Given the description of an element on the screen output the (x, y) to click on. 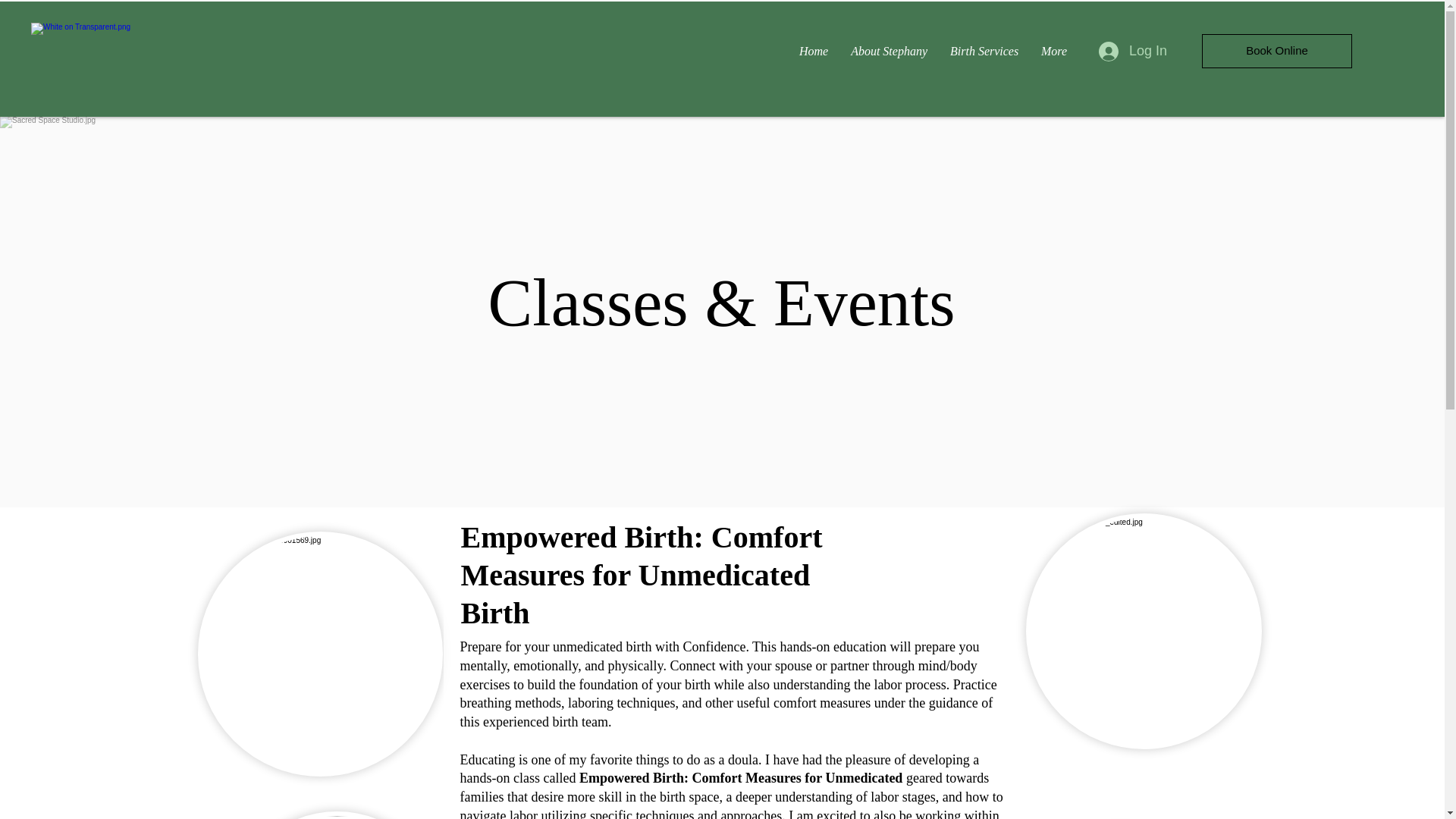
Home (813, 51)
Log In (1132, 51)
Book Online (1277, 50)
Birth Services (984, 51)
About Stephany (889, 51)
